Given the description of an element on the screen output the (x, y) to click on. 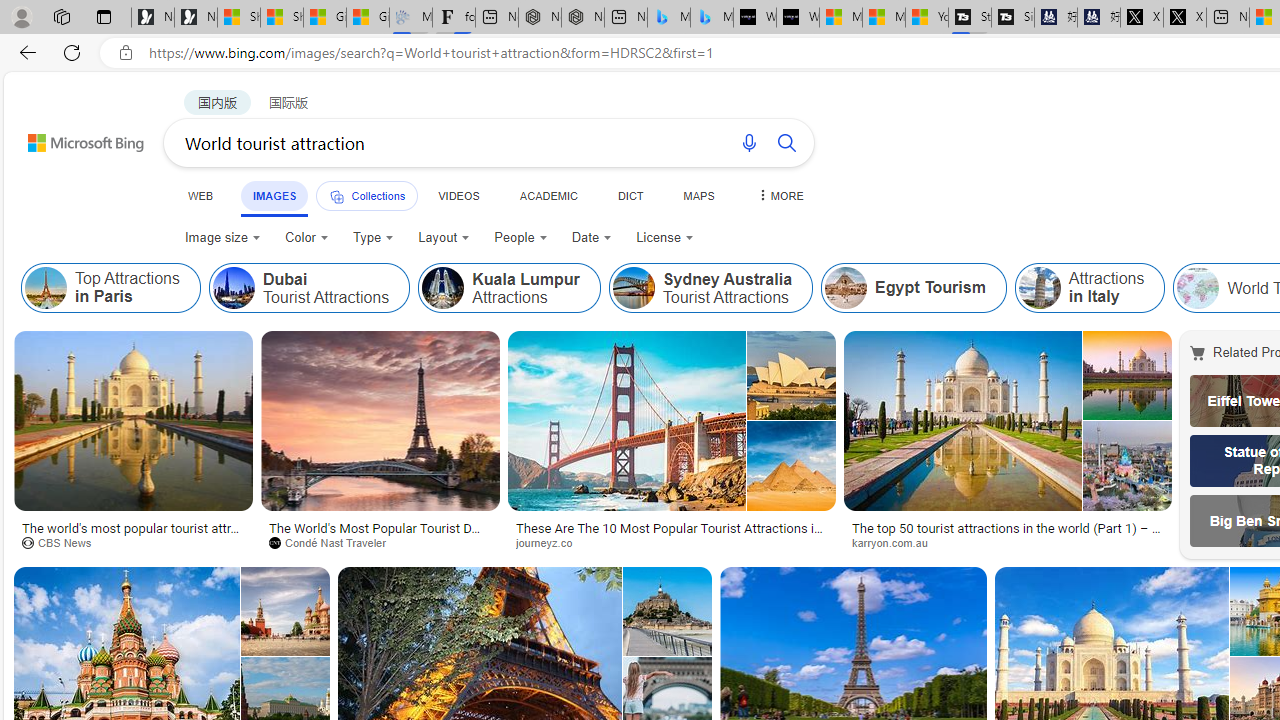
Streaming Coverage | T3 (969, 17)
CBS News (63, 541)
The world's most popular tourist attractions - CBS News (133, 534)
ACADEMIC (548, 195)
WEB (201, 195)
ACADEMIC (548, 195)
IMAGES (274, 196)
People (520, 237)
People (521, 237)
CBS News (132, 542)
